Given the description of an element on the screen output the (x, y) to click on. 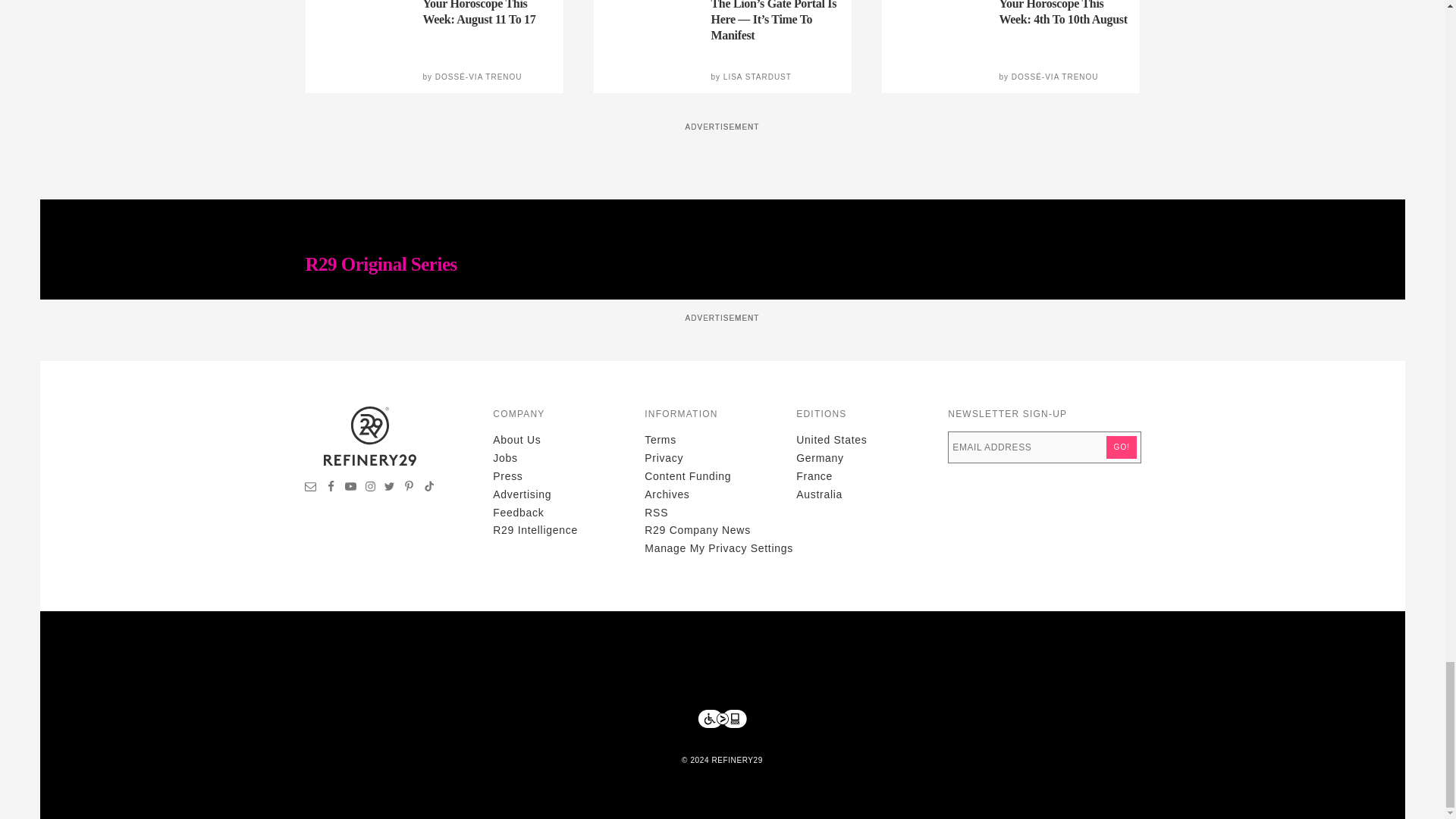
Visit Refinery29 on YouTube (350, 488)
Visit Refinery29 on TikTok (428, 488)
Sign up for newsletters (310, 488)
